Given the description of an element on the screen output the (x, y) to click on. 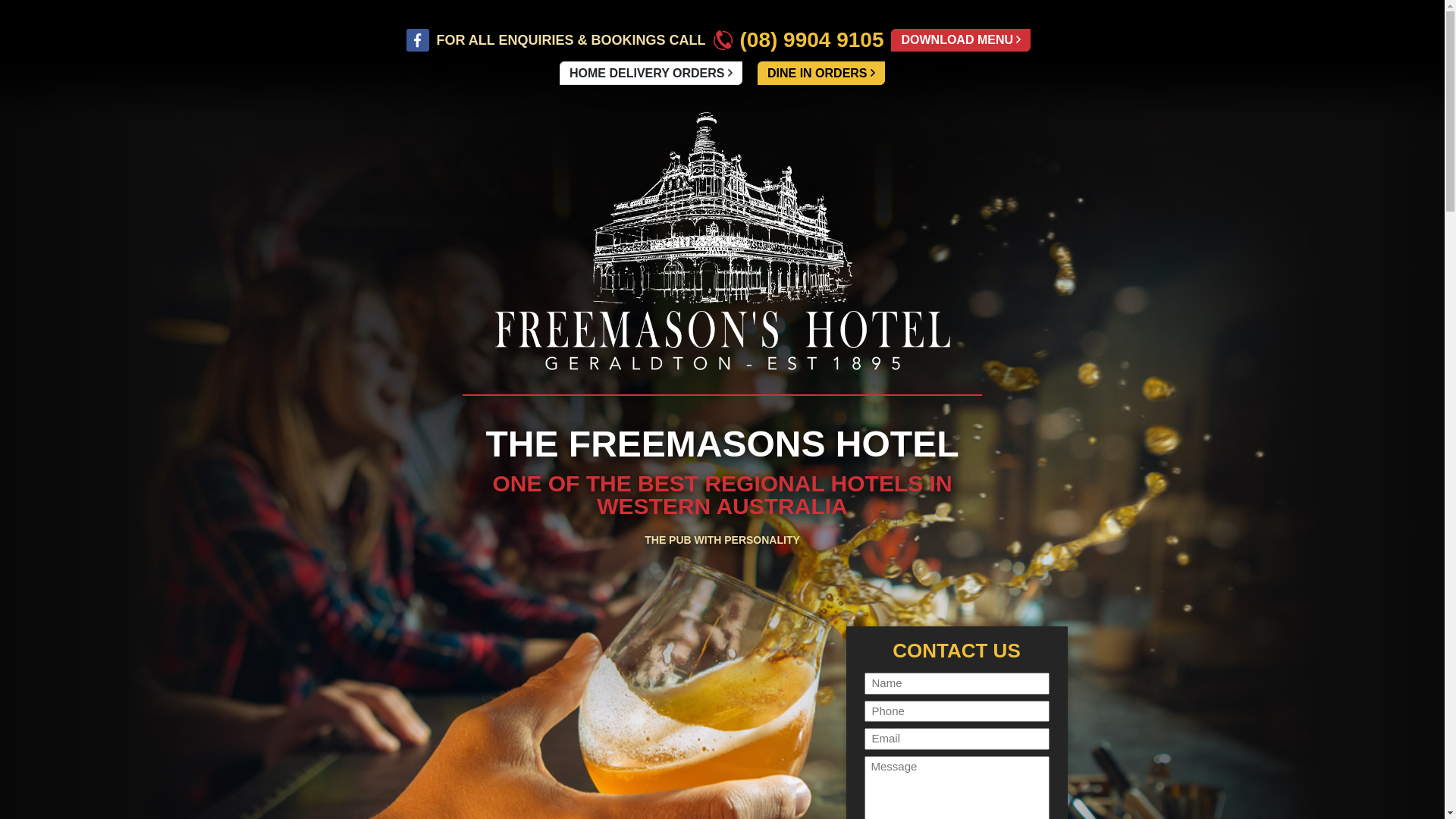
DOWNLOAD MENU Element type: text (960, 40)
(08) 9904 9105 Element type: text (798, 40)
DINE IN ORDERS Element type: text (820, 72)
HOME DELIVERY ORDERS Element type: text (650, 72)
